Given the description of an element on the screen output the (x, y) to click on. 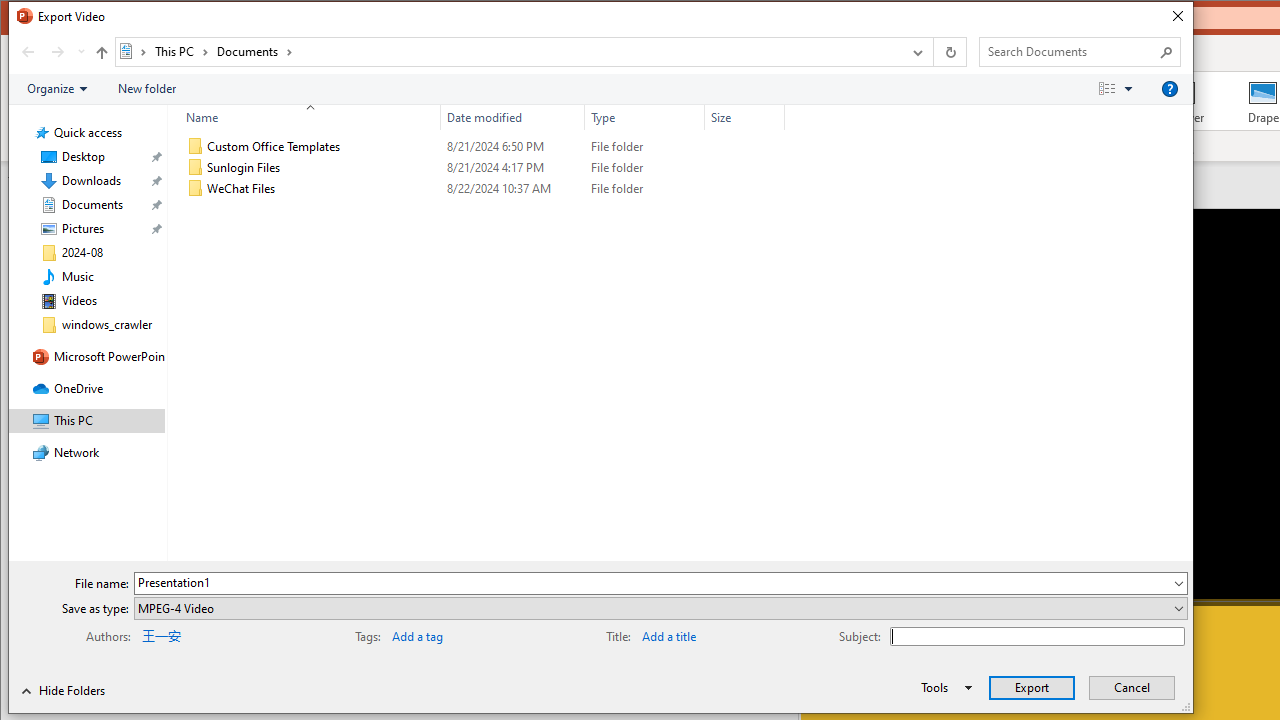
Subject: (1037, 636)
Address: Documents (507, 51)
Save as type: (660, 607)
Address band toolbar (932, 51)
Refresh "Documents" (F5) (949, 51)
Class: UIImage (195, 188)
Name (322, 188)
Command Module (600, 89)
Export (1032, 688)
Documents (254, 51)
Back (Alt + Left Arrow) (27, 51)
Up band toolbar (101, 55)
All locations (133, 51)
Name (304, 117)
Tags (454, 634)
